Given the description of an element on the screen output the (x, y) to click on. 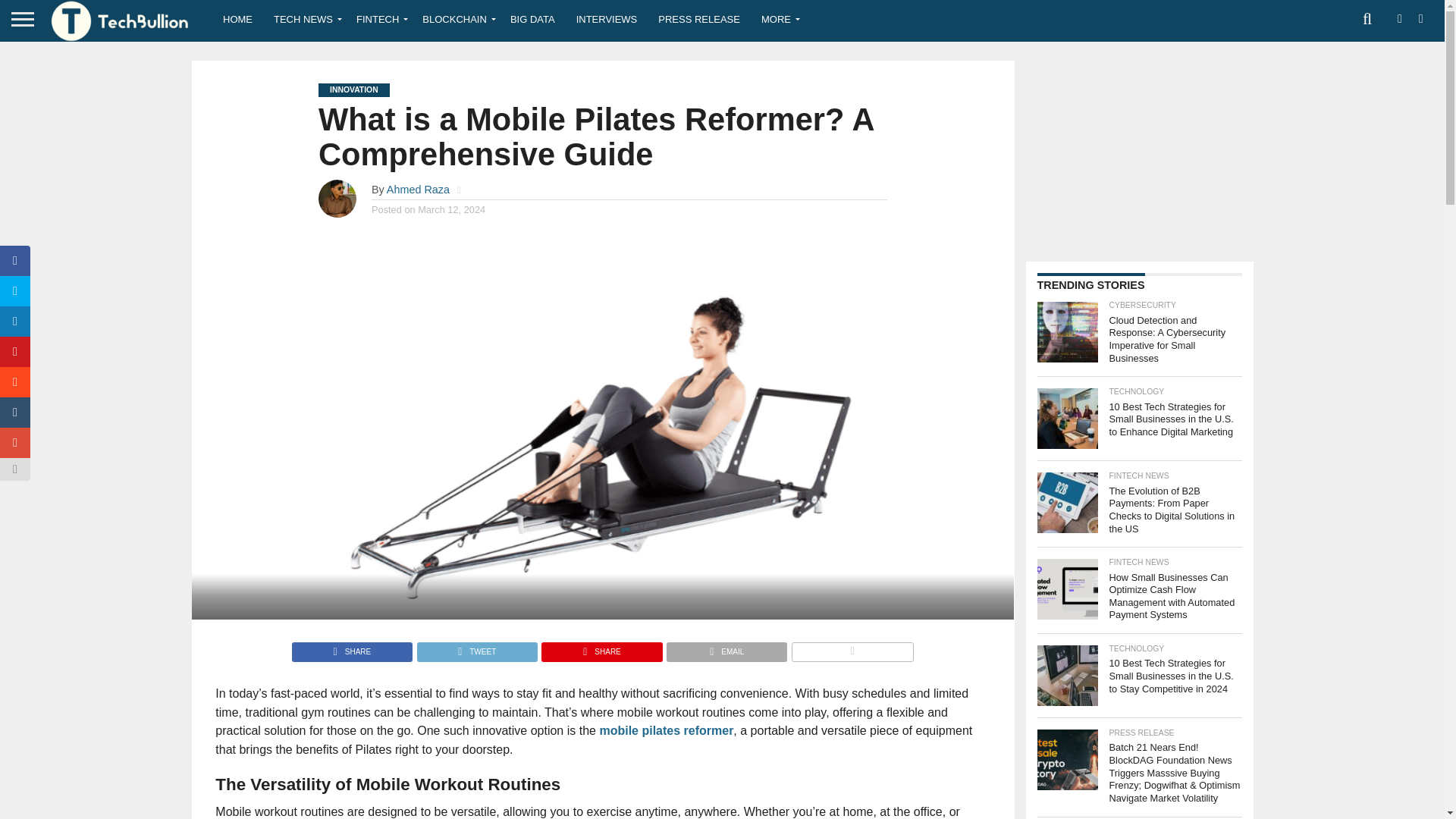
Share on Facebook (352, 647)
Tweet This Post (476, 647)
Posts by Ahmed Raza (418, 189)
Pin This Post (601, 647)
